Given the description of an element on the screen output the (x, y) to click on. 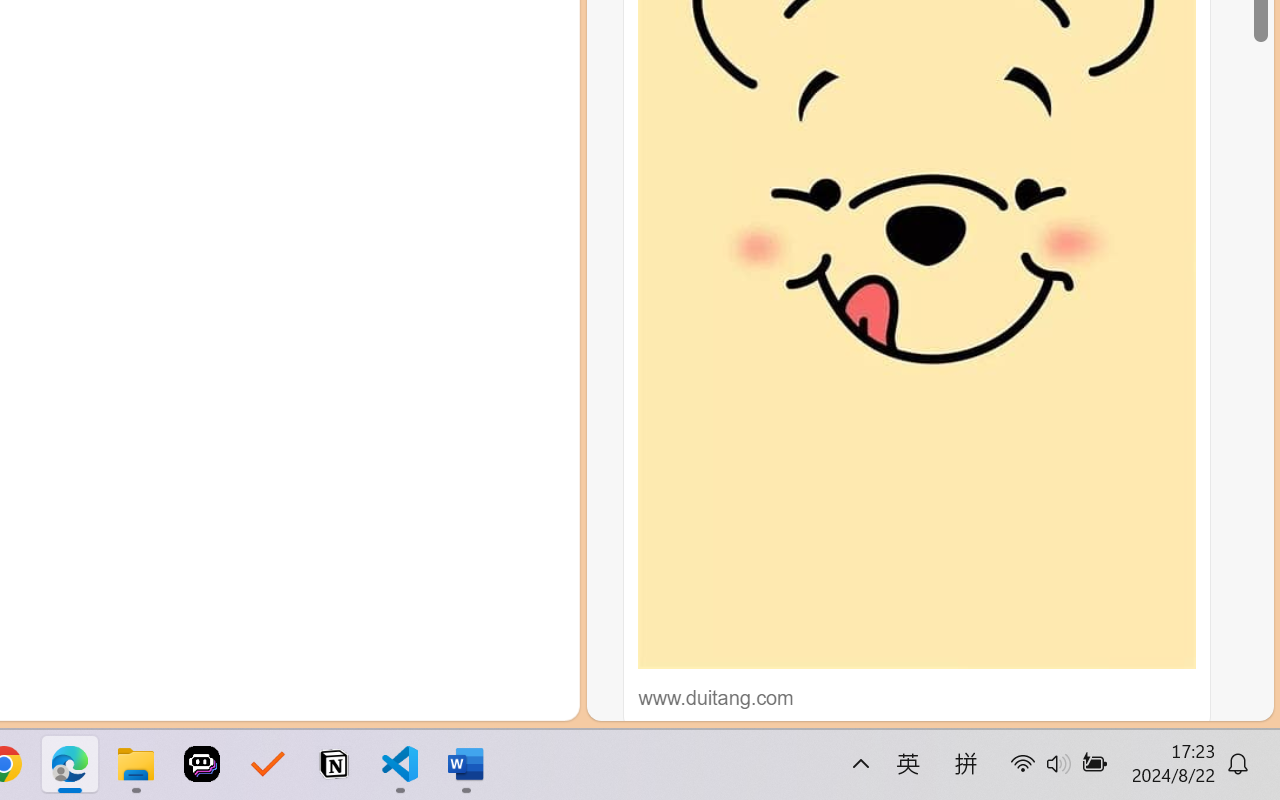
Terminal 2 bash (470, 332)
Maximize Panel Size (488, 242)
Launch Profile... (401, 243)
